Given the description of an element on the screen output the (x, y) to click on. 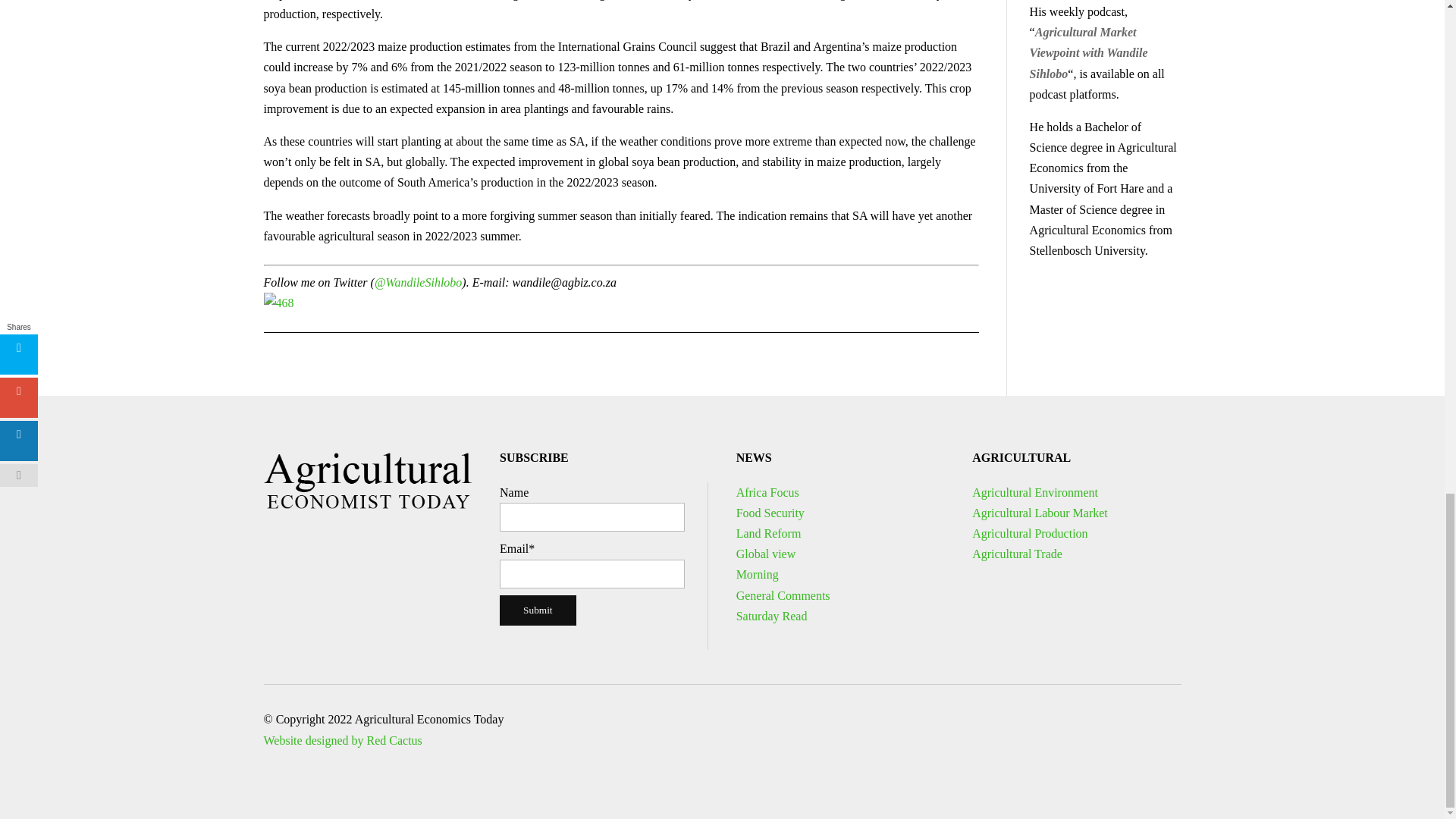
Submit (537, 610)
wandile-logo (367, 480)
